Given the description of an element on the screen output the (x, y) to click on. 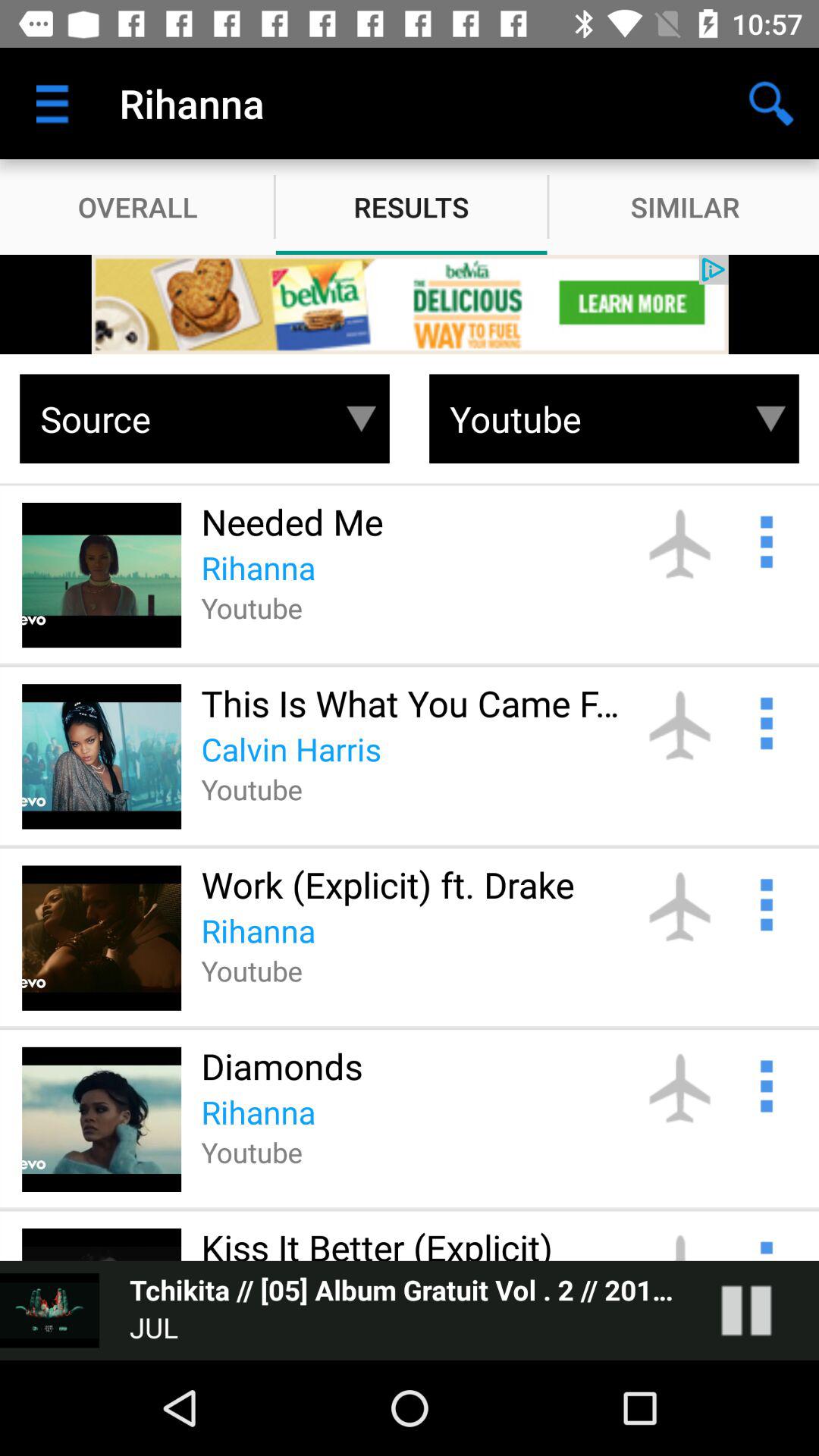
click overall (137, 206)
select youtube (590, 418)
select the source (181, 418)
select the third image (101, 938)
select the 4th more icon (764, 1084)
